Given the description of an element on the screen output the (x, y) to click on. 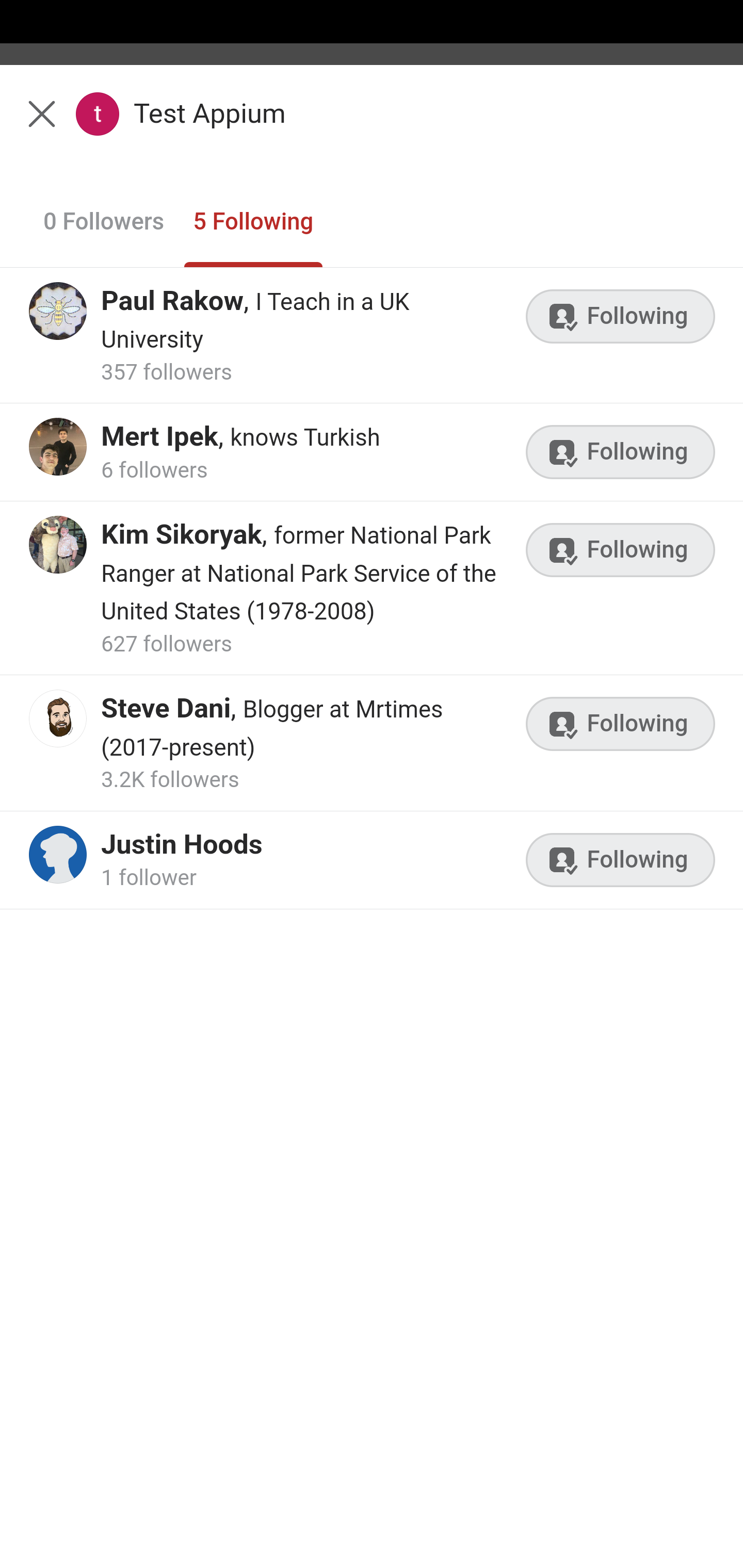
Me Home Search Add (371, 125)
Back Test Appium (371, 125)
